Given the description of an element on the screen output the (x, y) to click on. 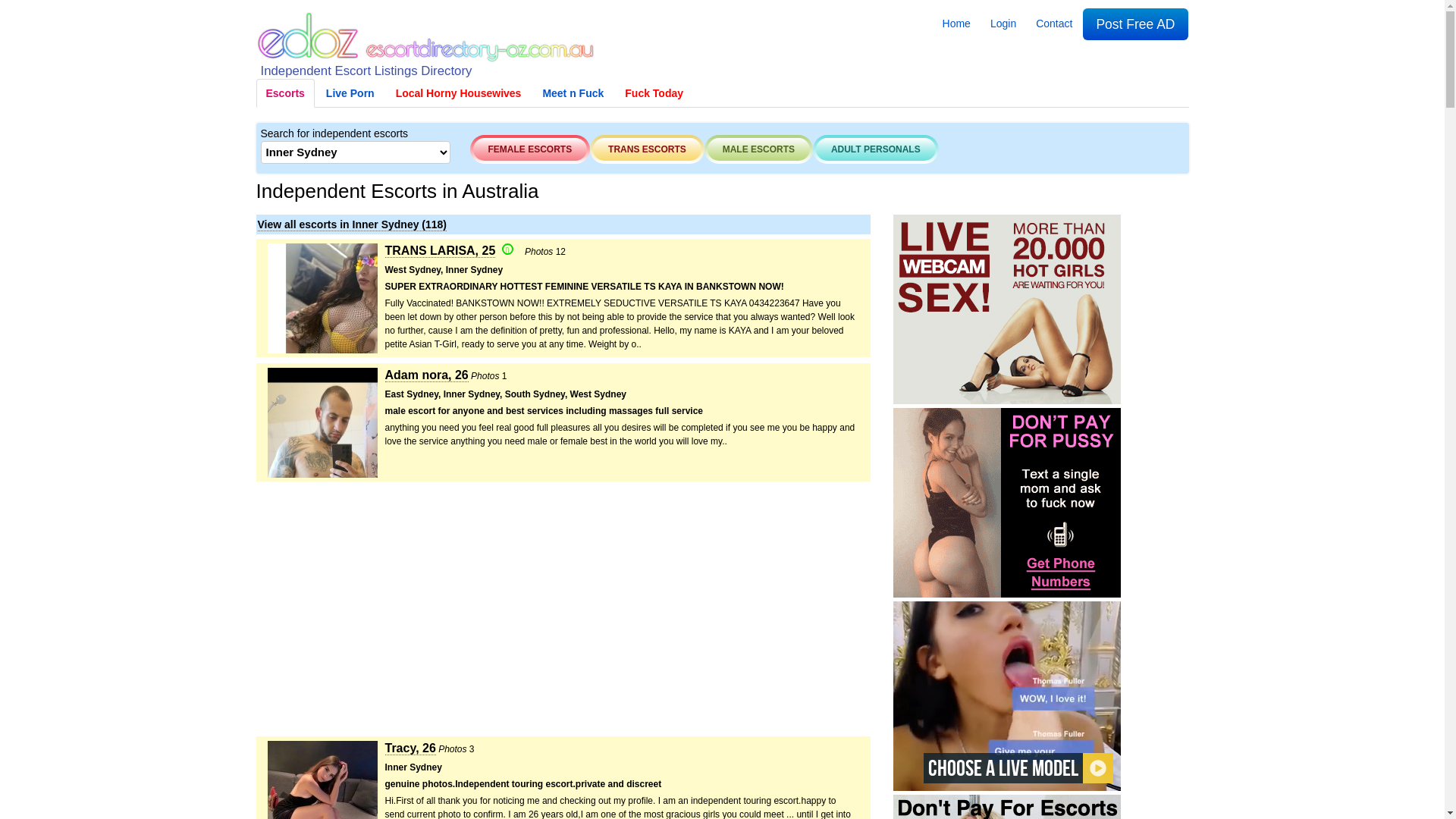
Escorts Element type: text (285, 92)
TRANS ESCORTS Element type: text (647, 149)
TRANS LARISA, 25 Element type: text (440, 251)
Ad Element type: hover (1006, 502)
Contact Element type: text (1053, 23)
Local Horny Housewives Element type: text (458, 92)
MALE ESCORTS Element type: text (758, 149)
Post Free AD Element type: text (1134, 24)
FEMALE ESCORTS Element type: text (530, 149)
Ad Element type: hover (1006, 695)
Ad Element type: hover (1006, 309)
Tracy, 26 Element type: text (410, 748)
View all escorts in Inner Sydney (118) Element type: text (352, 224)
Home Element type: text (956, 23)
Adam nora, 26 Element type: text (426, 375)
Meet n Fuck Element type: text (572, 92)
TRANS LARISA Escort in Sydney Element type: hover (321, 300)
Fuck Today Element type: text (654, 92)
Login Element type: text (1003, 23)
Live Porn Element type: text (350, 92)
Adam nora Escort in Sydney Element type: hover (321, 424)
ADULT PERSONALS Element type: text (875, 149)
